Given the description of an element on the screen output the (x, y) to click on. 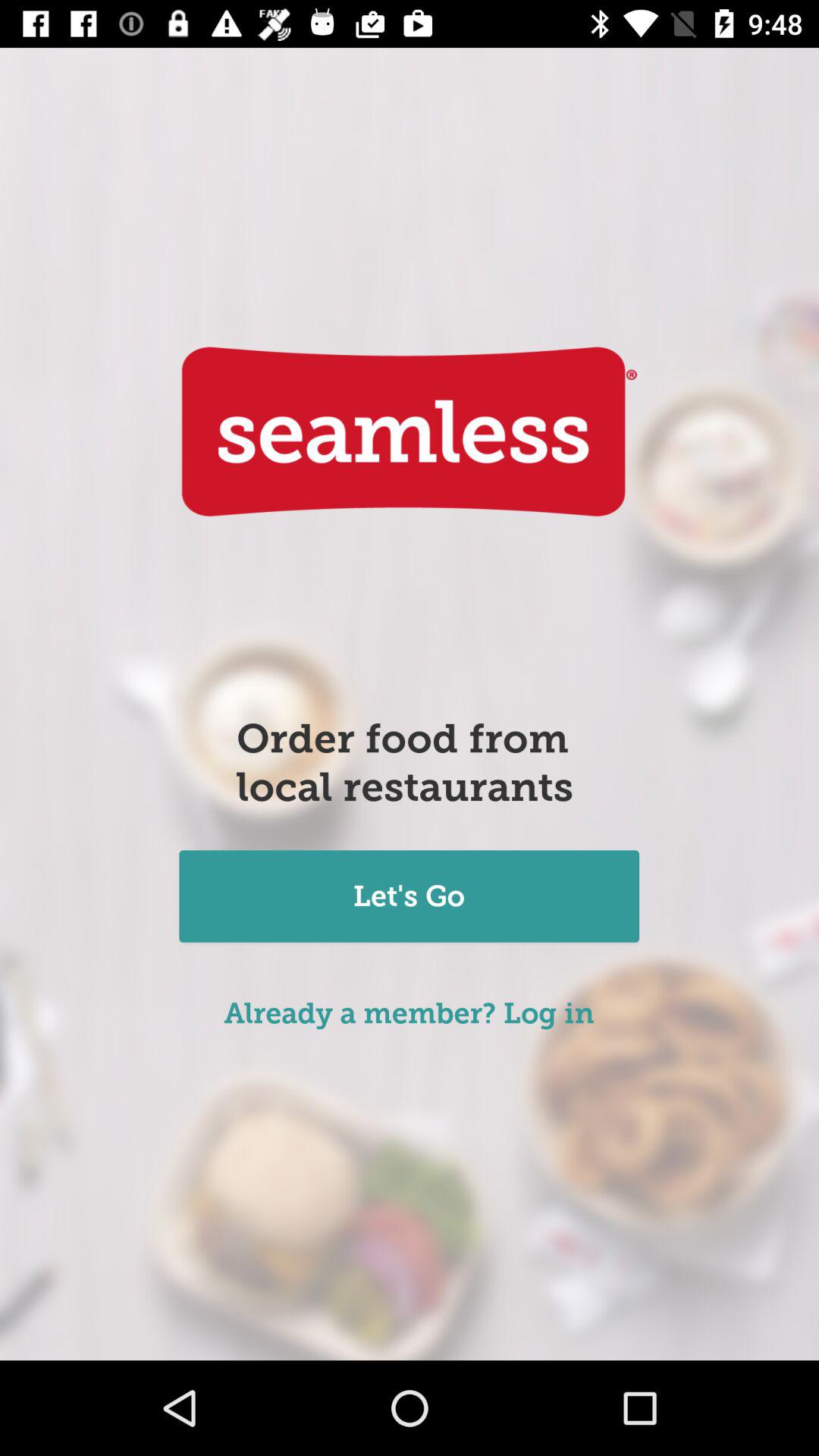
choose let's go (409, 897)
